Given the description of an element on the screen output the (x, y) to click on. 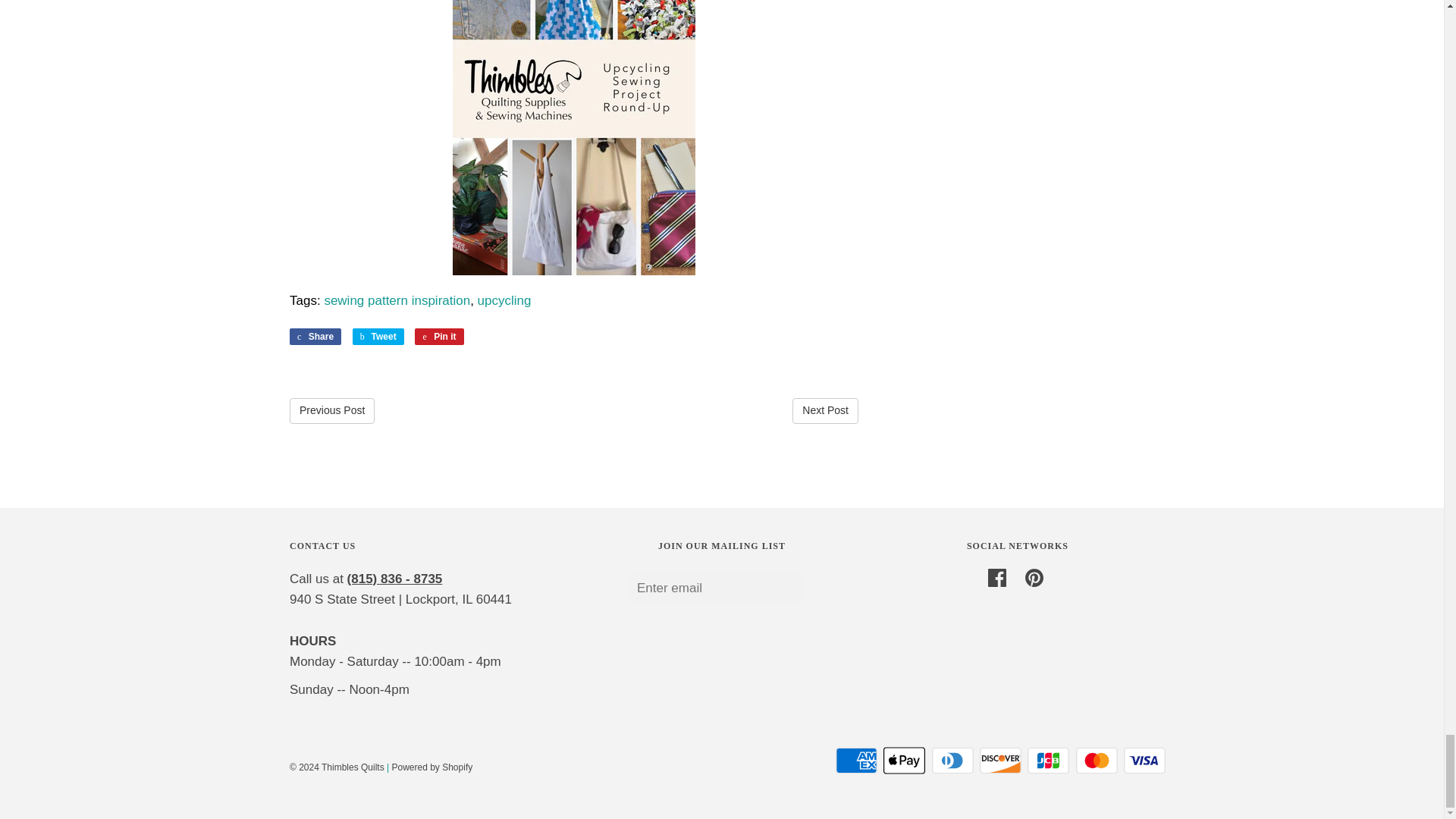
Diners Club (952, 760)
American Express (856, 760)
Apple Pay (903, 760)
Facebook icon (997, 577)
JCB (1047, 760)
Pinterest icon (1034, 577)
Discover (1000, 760)
Visa (1145, 760)
Mastercard (1096, 760)
